Given the description of an element on the screen output the (x, y) to click on. 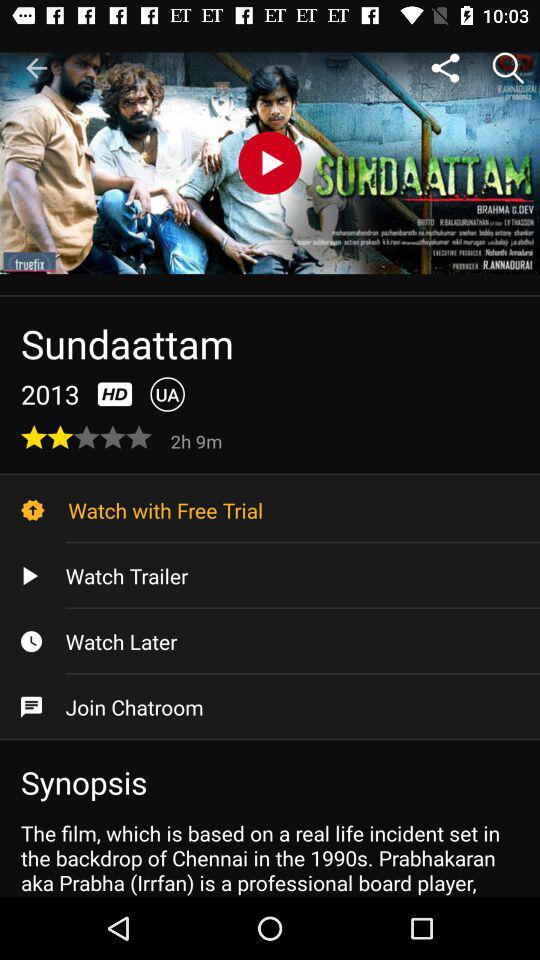
select the icon above synopsis item (270, 707)
